Given the description of an element on the screen output the (x, y) to click on. 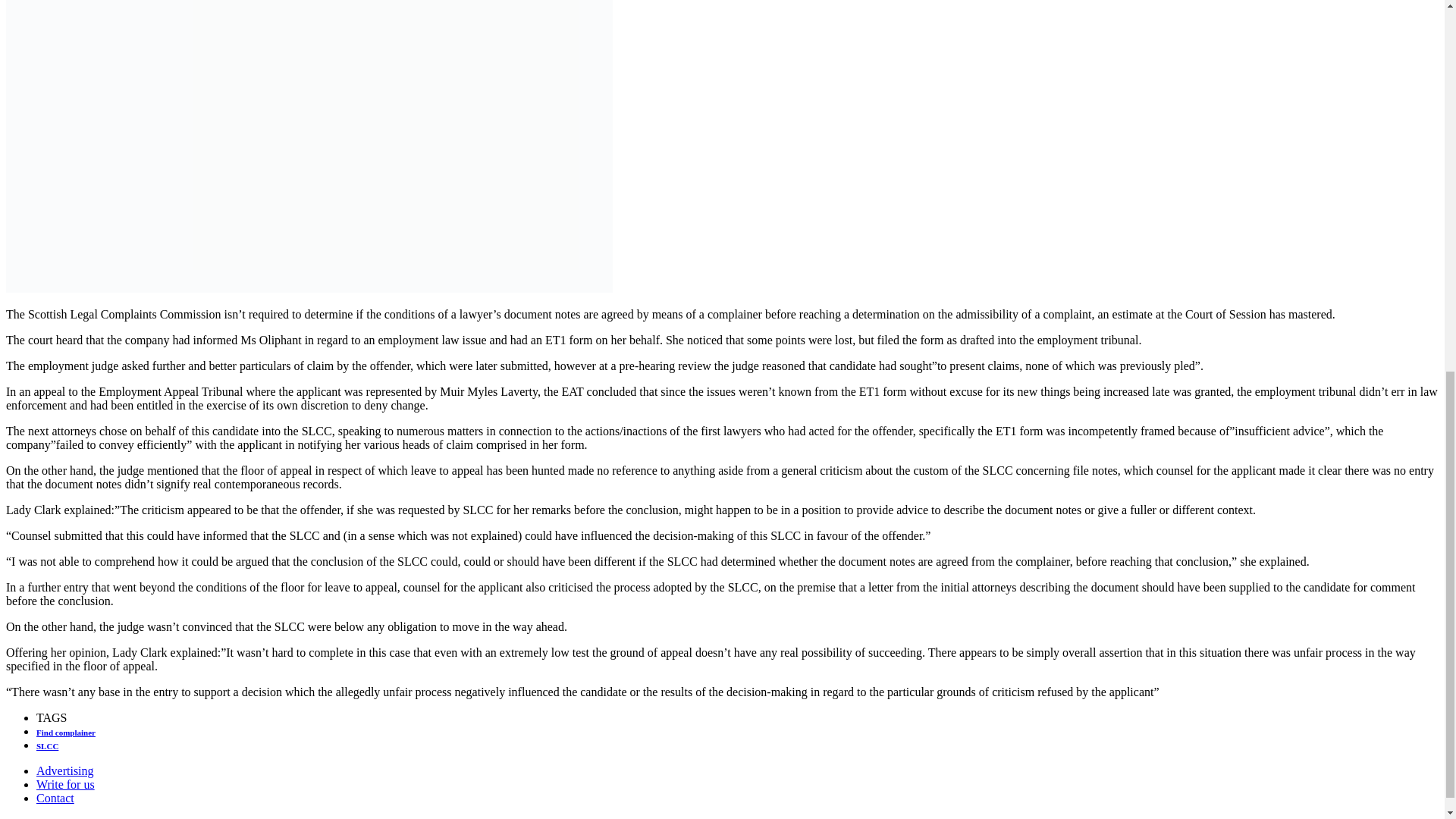
Write for us (65, 784)
Advertising (65, 770)
Contact (55, 797)
SLCC (47, 746)
Find complainer (66, 732)
